Given the description of an element on the screen output the (x, y) to click on. 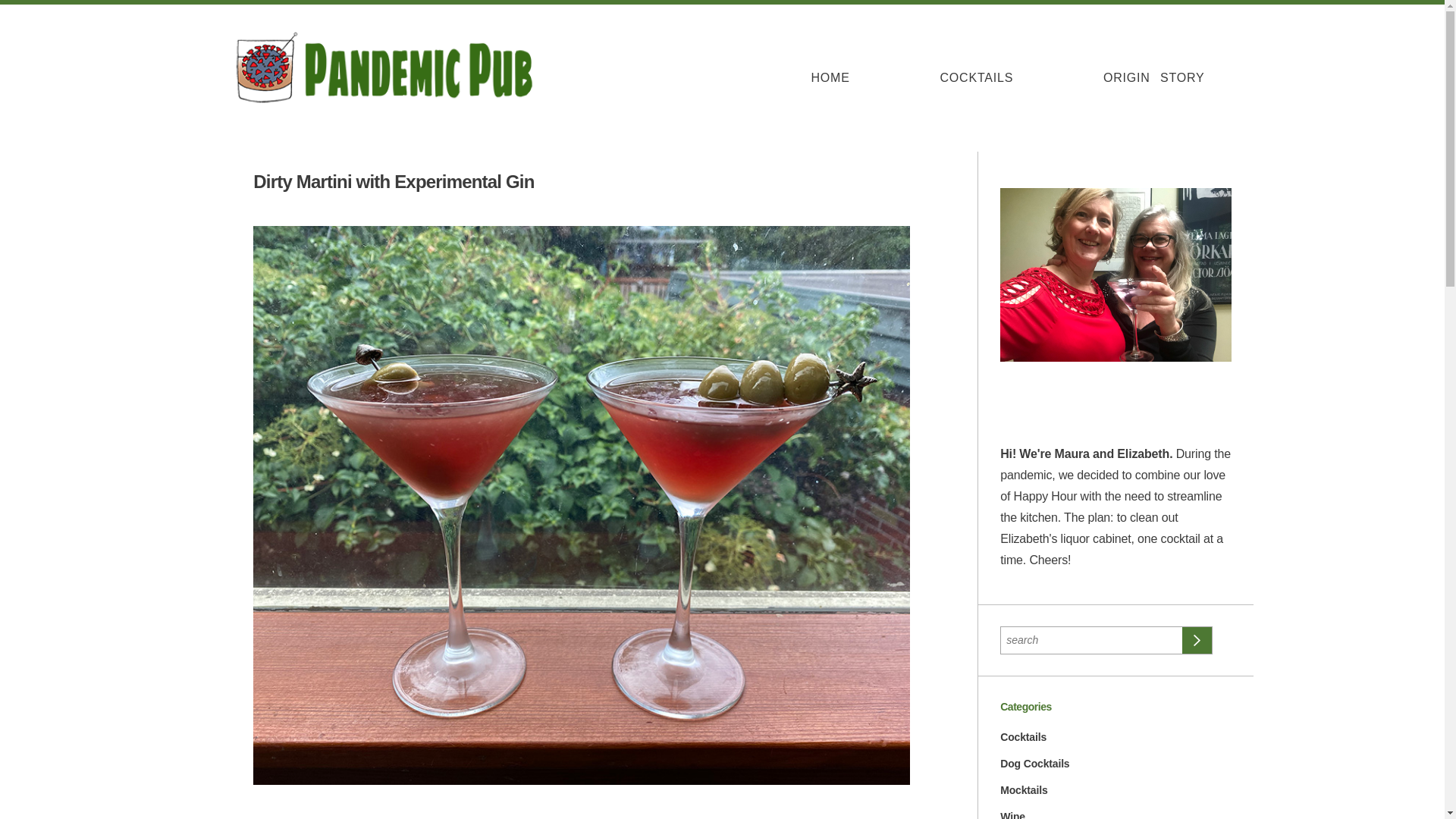
Cocktails (1023, 736)
ORIGIN STORY (1152, 76)
Wine (1012, 814)
COCKTAILS (977, 76)
HOME (830, 76)
Mocktails (1023, 789)
Dog Cocktails (1034, 763)
Dirty Martini with Experimental Gin (393, 181)
